Given the description of an element on the screen output the (x, y) to click on. 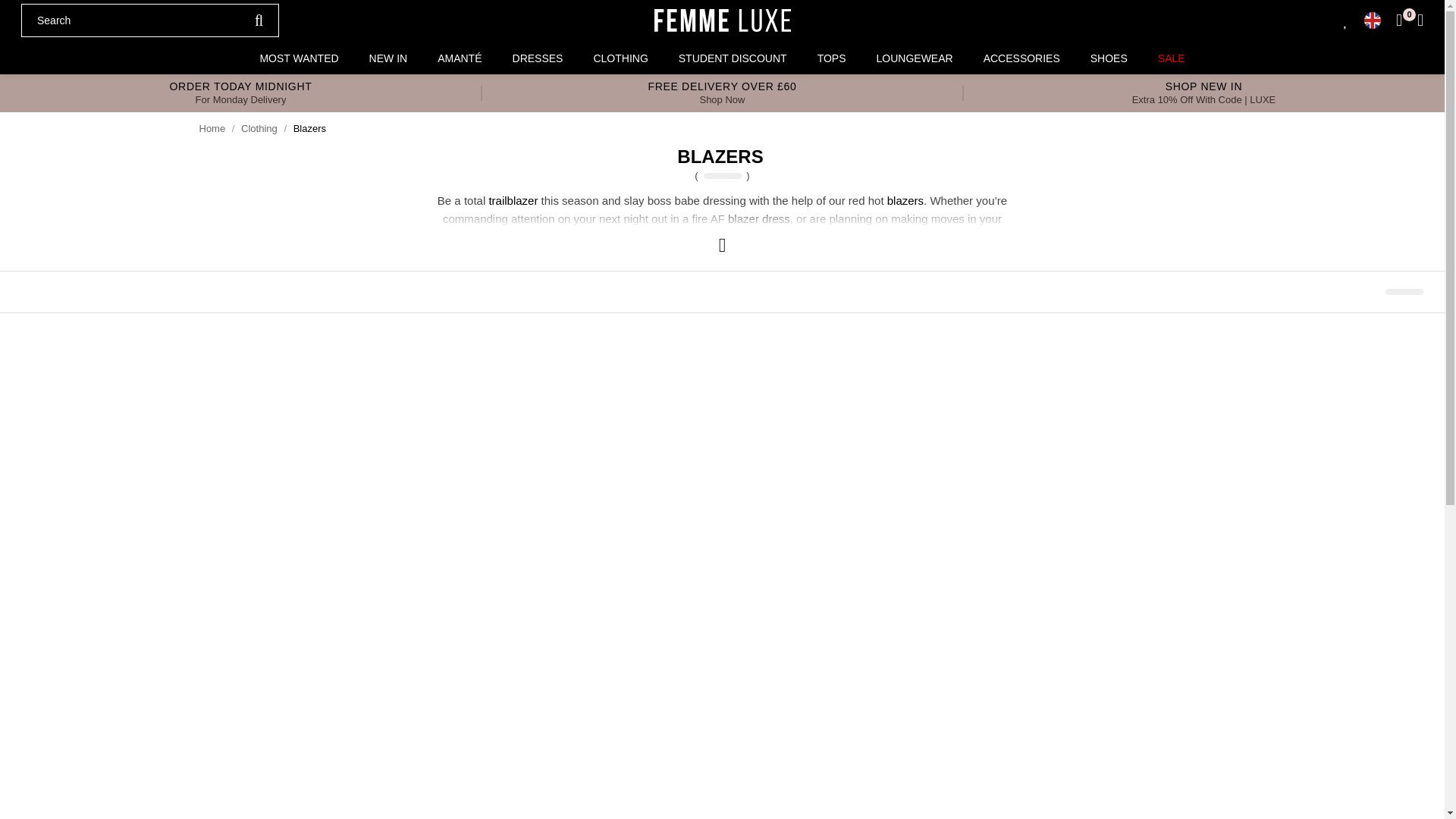
NEW IN (388, 57)
submit (259, 20)
Clothing (259, 128)
Home (211, 128)
Femme Luxe (721, 20)
DRESSES (537, 57)
MOST WANTED (298, 57)
